Given the description of an element on the screen output the (x, y) to click on. 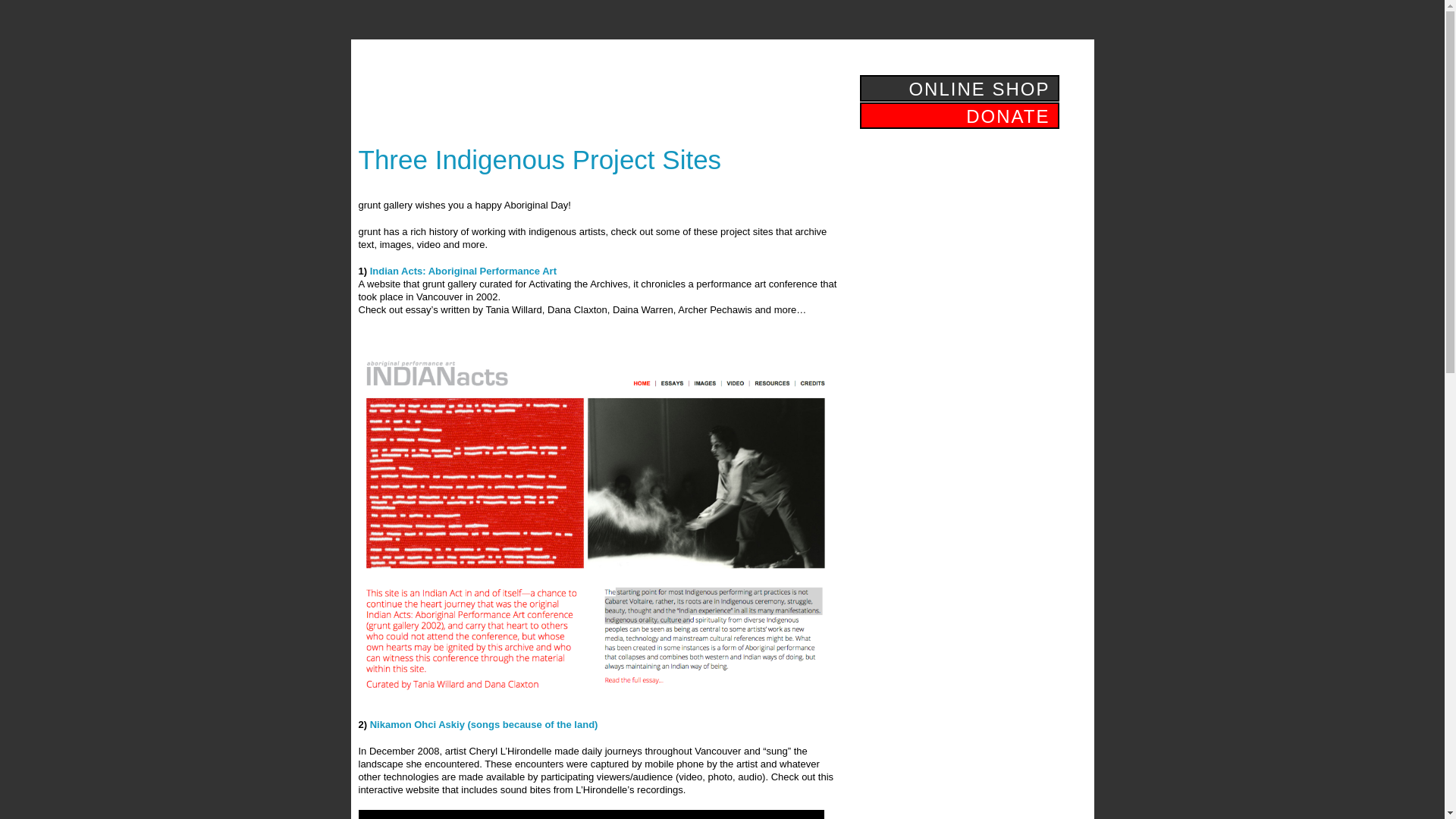
Permanent Link to Three Indigenous Project Sites (539, 158)
Indian Acts: Aboriginal Performance Art (462, 270)
grunt gallery (459, 99)
ONLINE SHOP (959, 87)
DONATE (959, 114)
Three Indigenous Project Sites (539, 158)
